Given the description of an element on the screen output the (x, y) to click on. 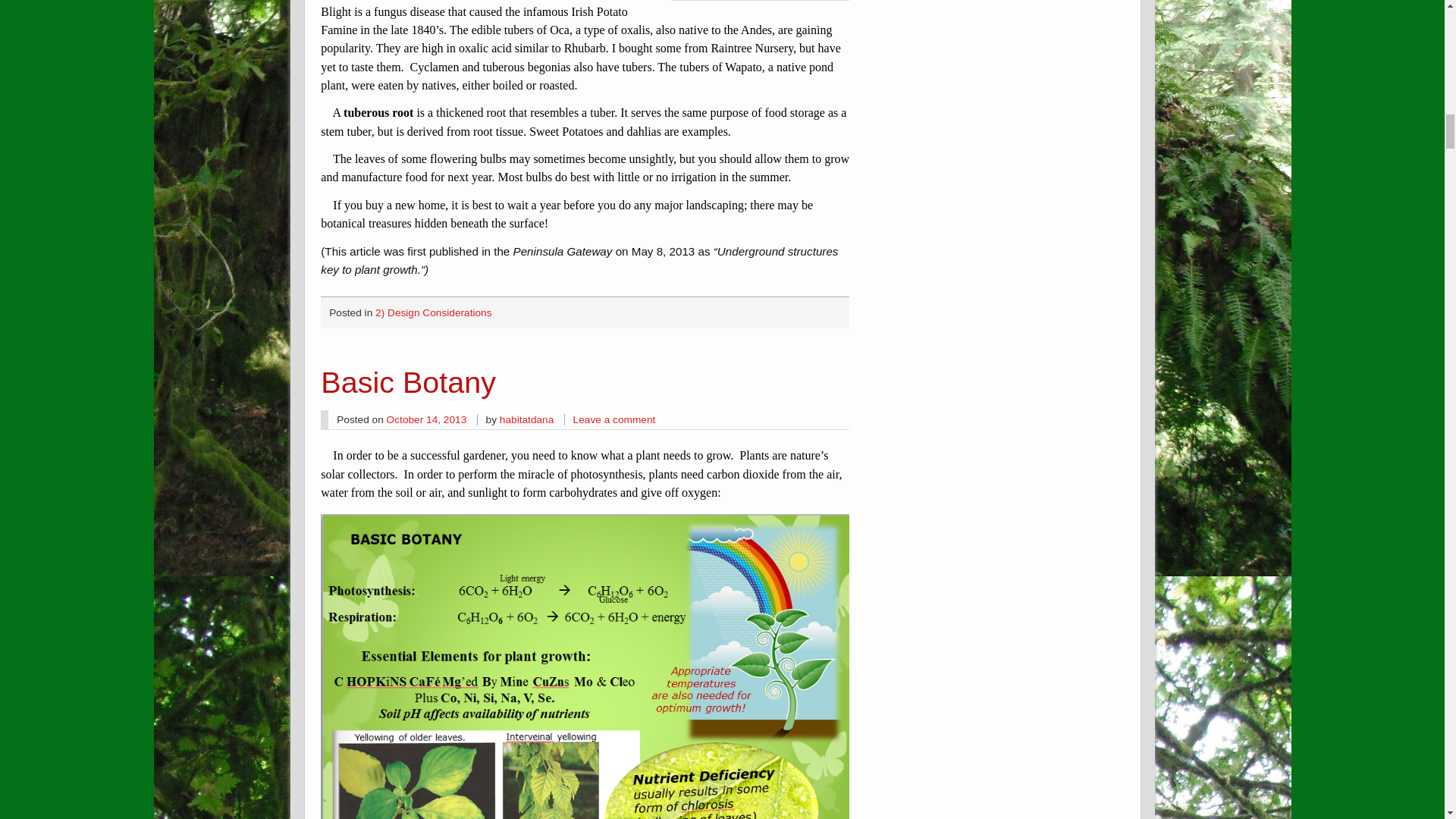
11:24 AM (427, 419)
View all posts by habitatdana (526, 419)
Leave a comment (614, 419)
Basic Botany (408, 381)
October 14, 2013 (427, 419)
habitatdana (526, 419)
